Given the description of an element on the screen output the (x, y) to click on. 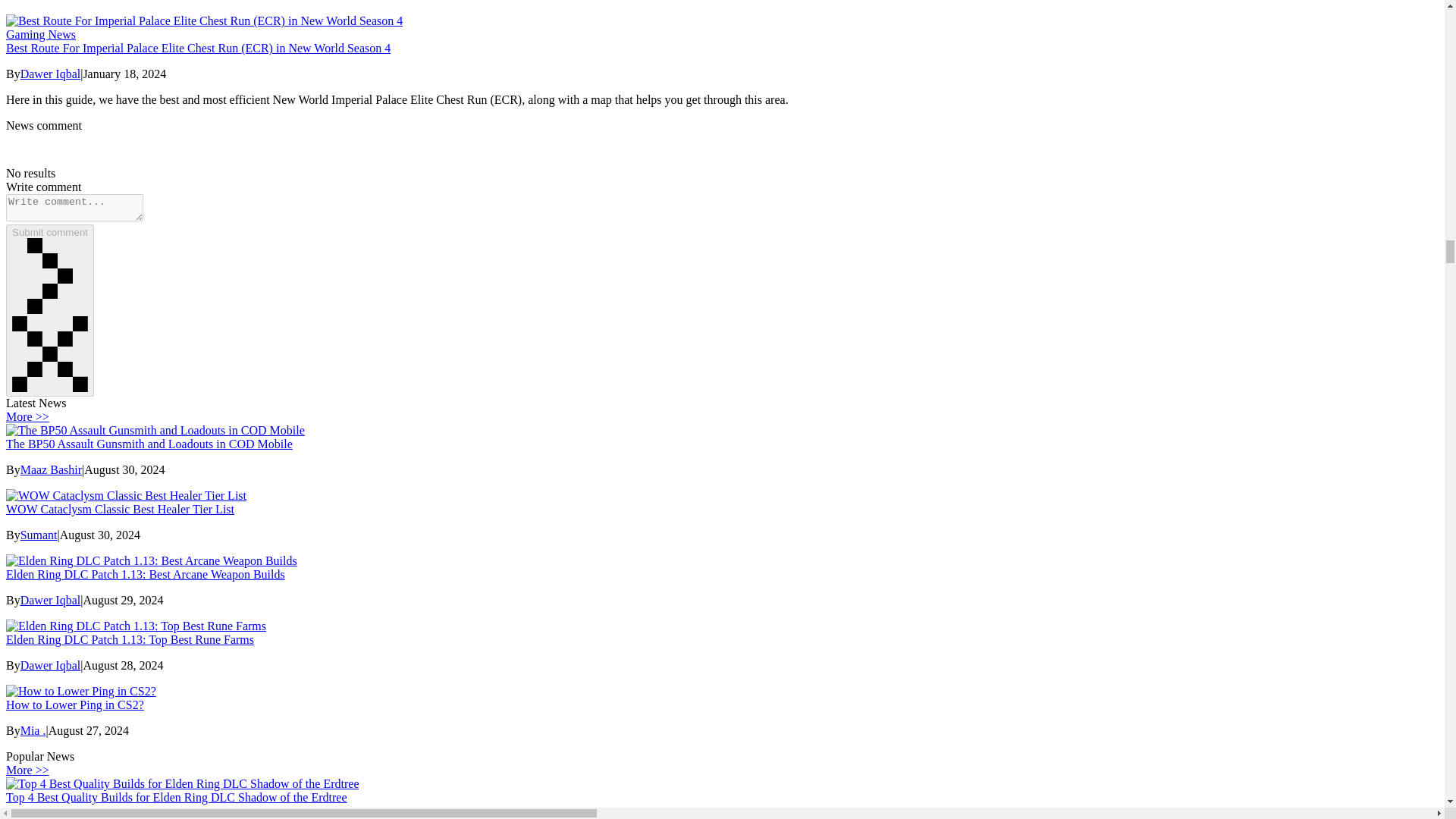
Sumant (39, 534)
Elden Ring DLC Patch 1.13: Best Arcane Weapon Builds (145, 574)
Maaz Bashir (50, 469)
Dawer Iqbal (50, 73)
WOW Cataclysm Classic Best Healer Tier List (119, 508)
Gaming News (721, 34)
The BP50 Assault Gunsmith and Loadouts in COD Mobile (148, 443)
Dawer Iqbal (50, 599)
